Given the description of an element on the screen output the (x, y) to click on. 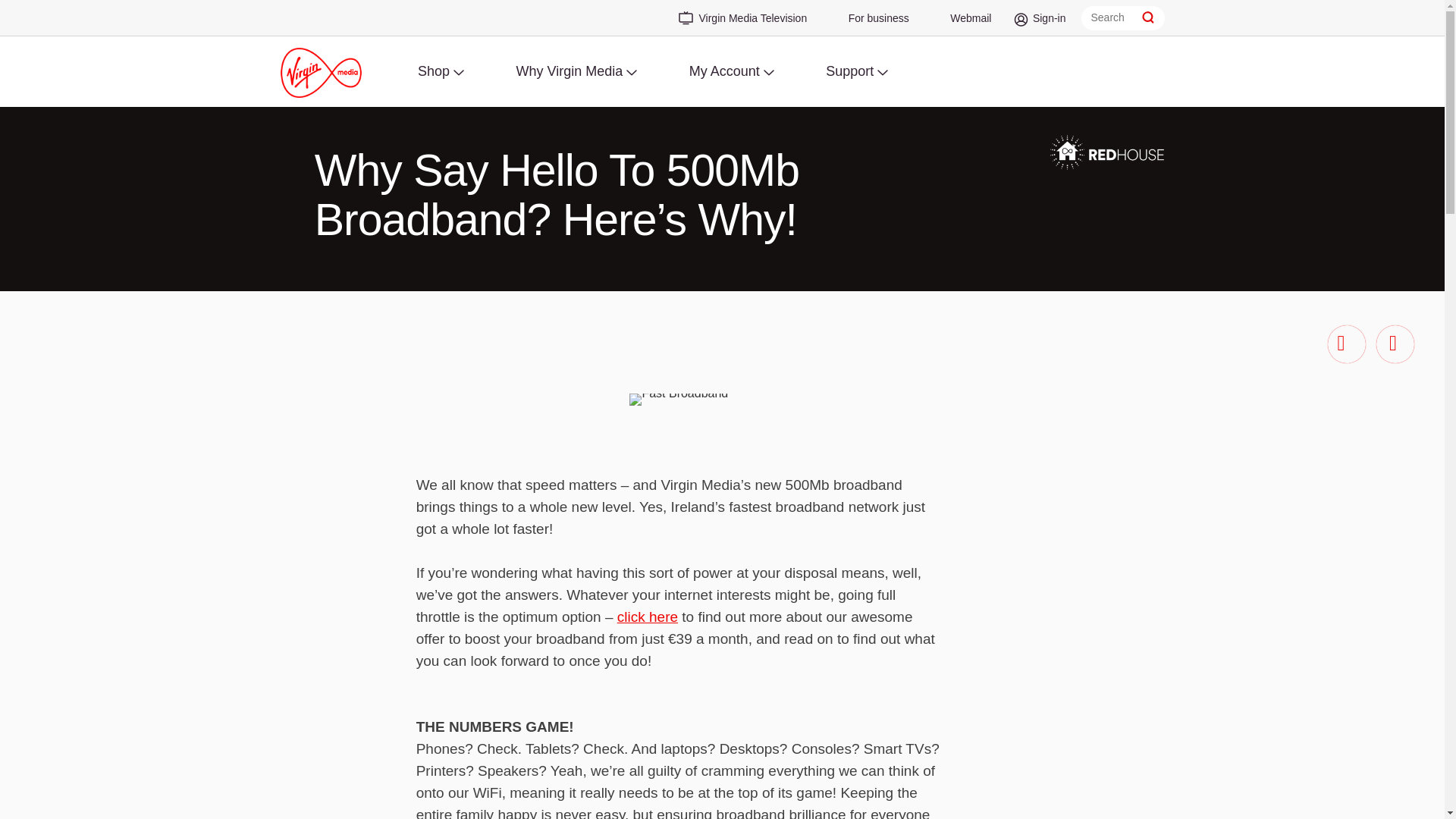
For business (871, 22)
Webmail (962, 22)
Virgin Media Television (737, 20)
Sign-in (1042, 22)
